Given the description of an element on the screen output the (x, y) to click on. 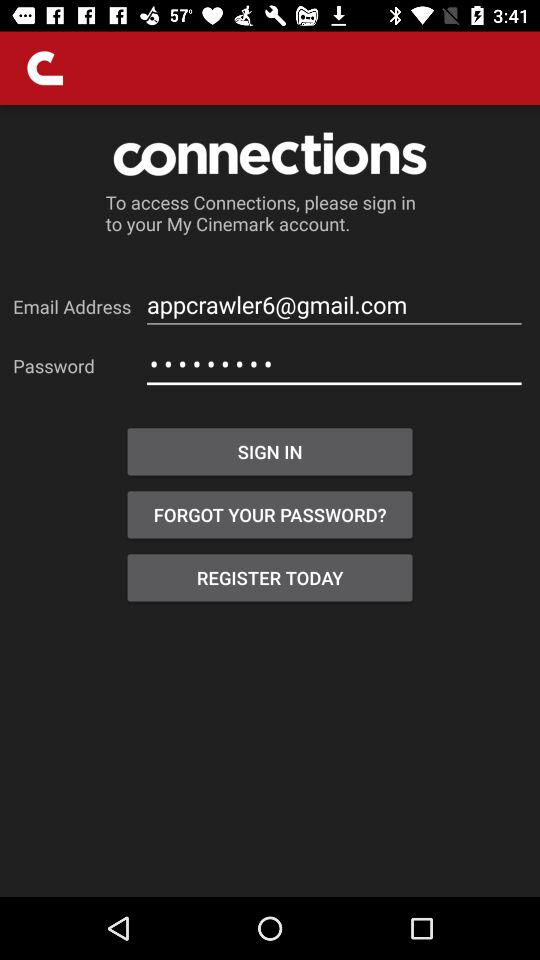
select item next to password item (333, 364)
